Given the description of an element on the screen output the (x, y) to click on. 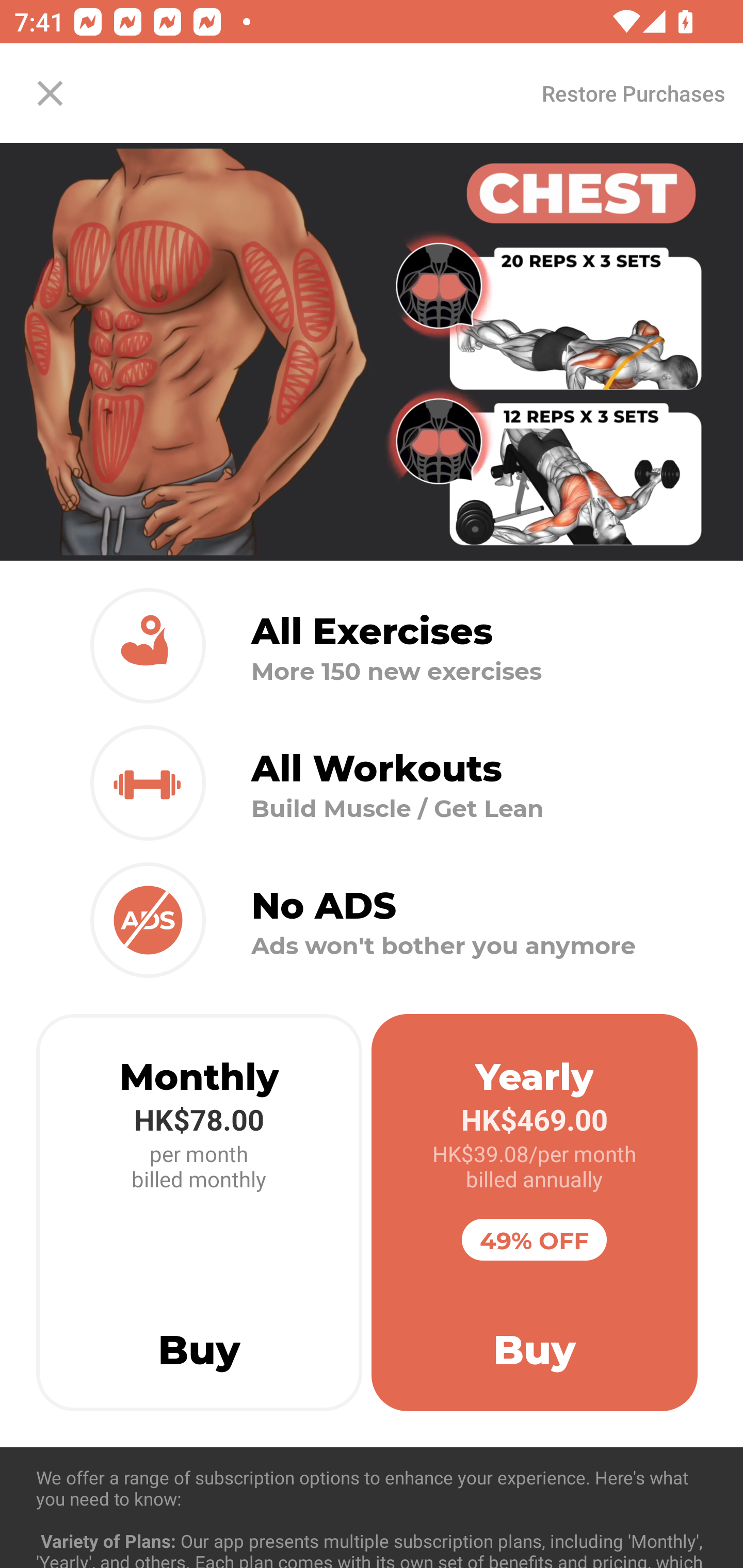
Restore Purchases (632, 92)
Monthly HK$78.00 per month
billed monthly Buy (199, 1212)
